Given the description of an element on the screen output the (x, y) to click on. 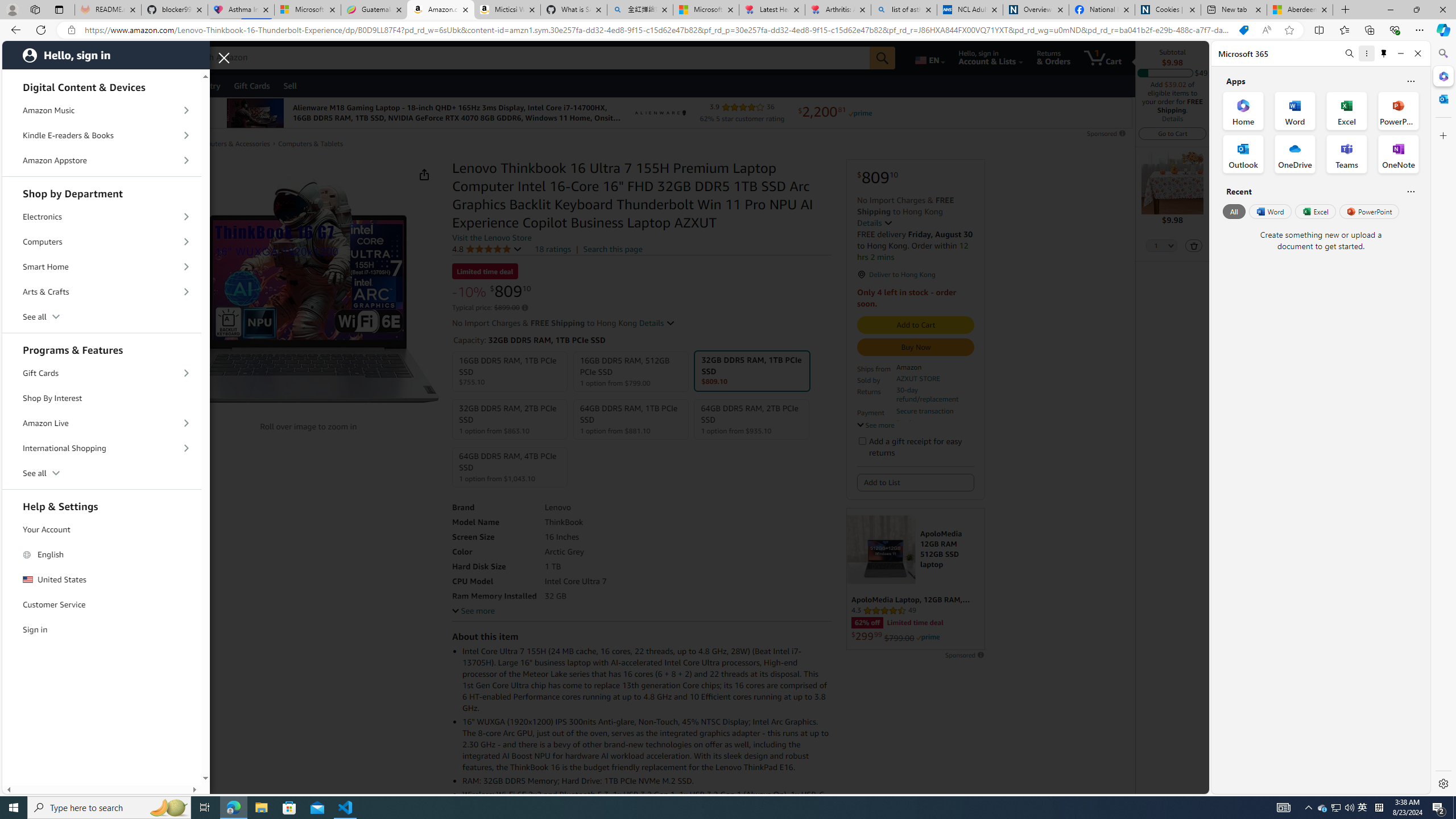
Learn more about Amazon pricing and savings (524, 307)
All (1233, 210)
Customer Service (101, 604)
Computers & Tablets (310, 144)
Delete (1193, 245)
Buy Now (915, 347)
Teams Office App (1346, 154)
Gift Cards (101, 373)
Secure transaction (924, 411)
Amazon Live (101, 423)
Shop By Interest (101, 398)
